Given the description of an element on the screen output the (x, y) to click on. 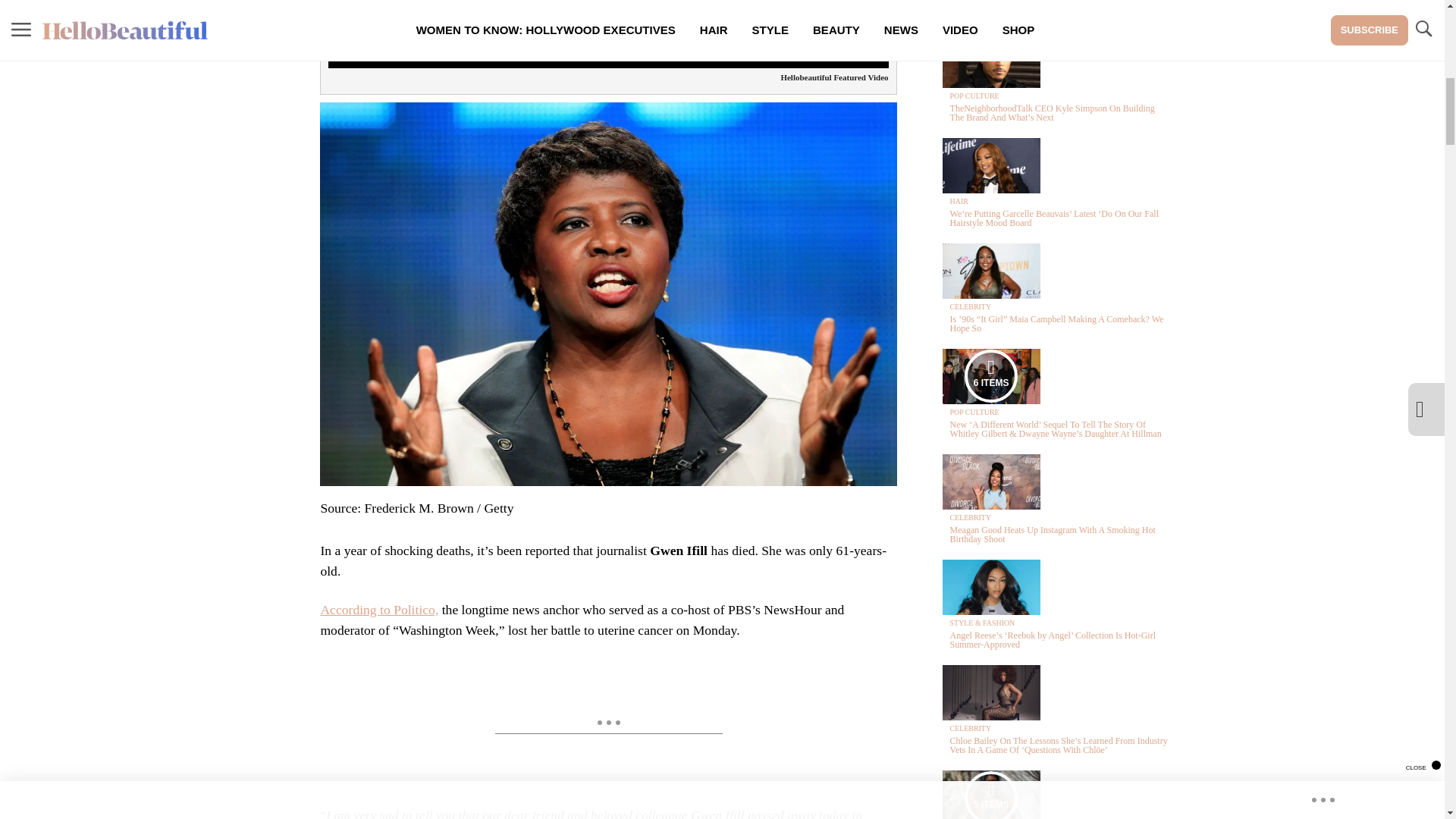
Media Playlist (990, 375)
According to Politico, (379, 609)
Media Playlist (990, 795)
